Given the description of an element on the screen output the (x, y) to click on. 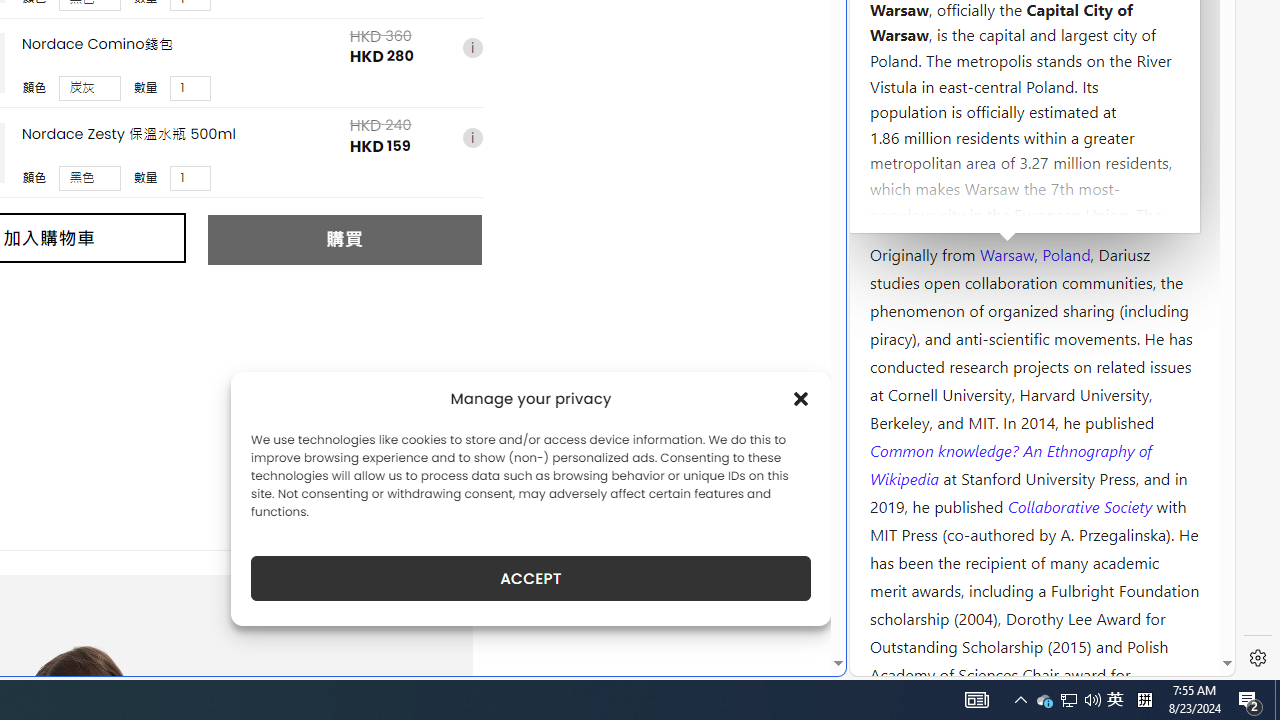
Harvard University (934, 205)
Warsaw (1006, 253)
Class: cmplz-close (801, 398)
Kozminski University (1034, 136)
i (472, 138)
